Given the description of an element on the screen output the (x, y) to click on. 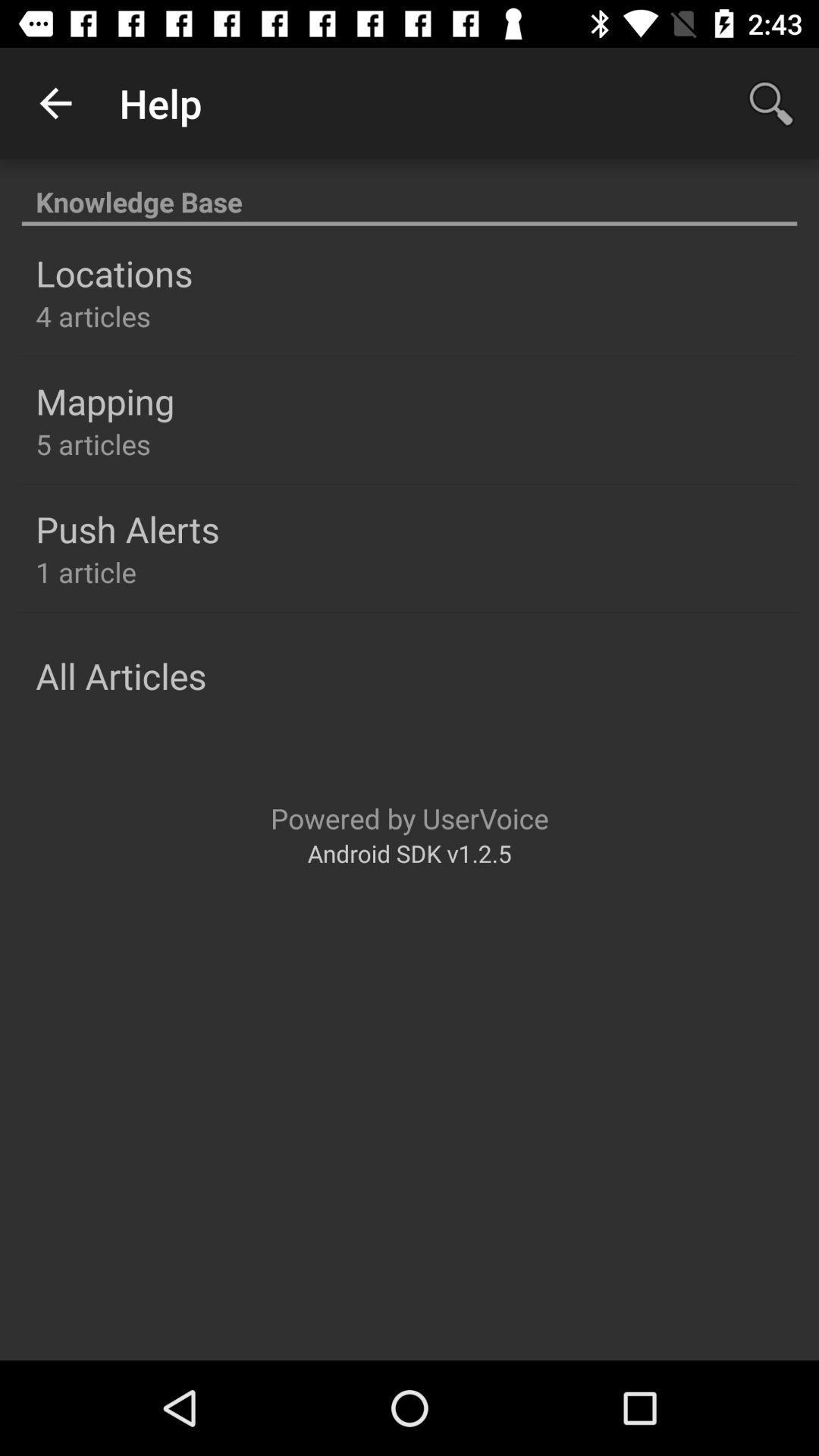
tap the item below the push alerts item (85, 571)
